Given the description of an element on the screen output the (x, y) to click on. 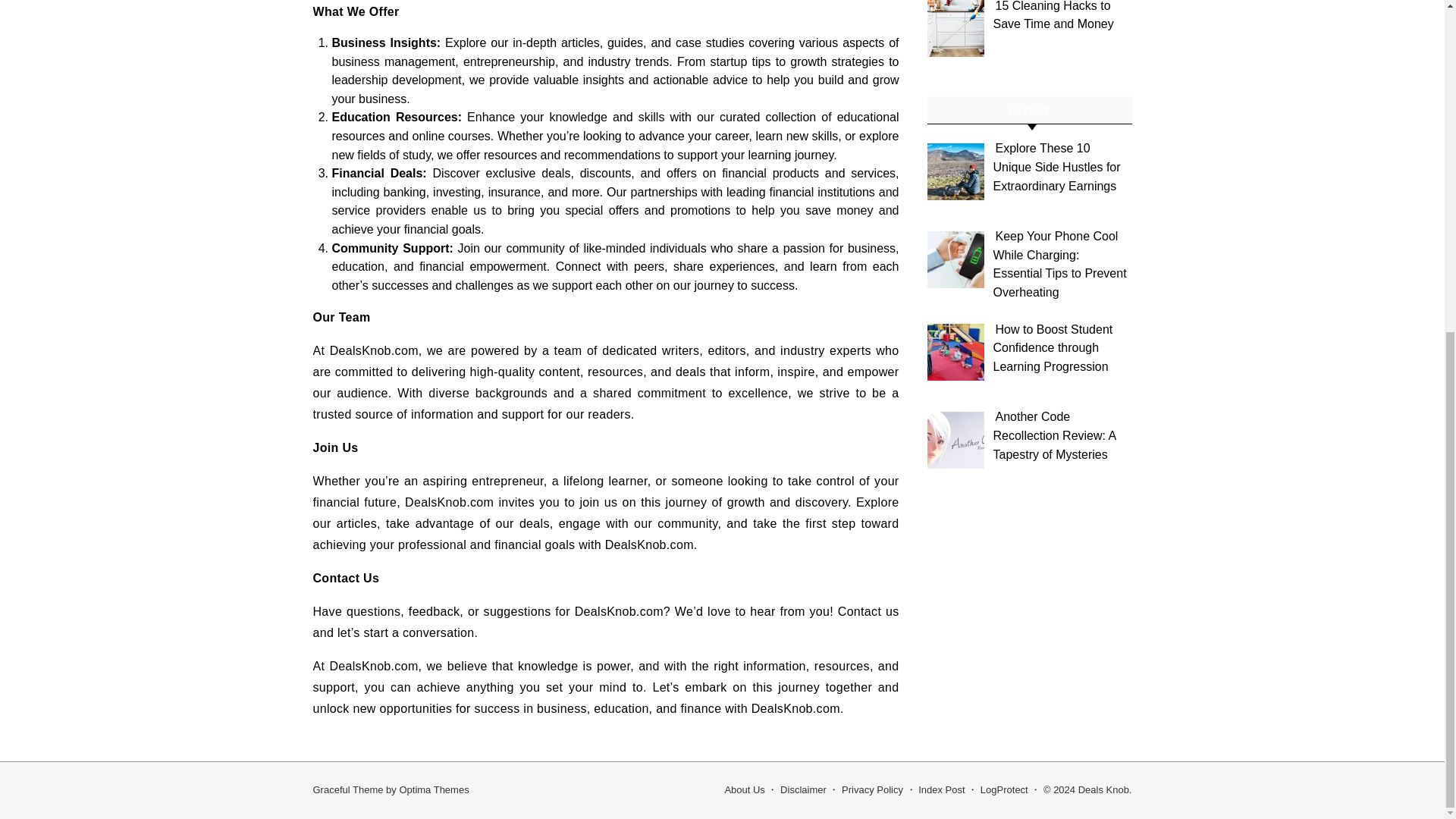
How to Boost Student Confidence through Learning Progression (1052, 347)
15 Cleaning Hacks to Save Time and Money (1052, 15)
About Us (743, 789)
Another Code Recollection Review: A Tapestry of Mysteries (1054, 435)
